Given the description of an element on the screen output the (x, y) to click on. 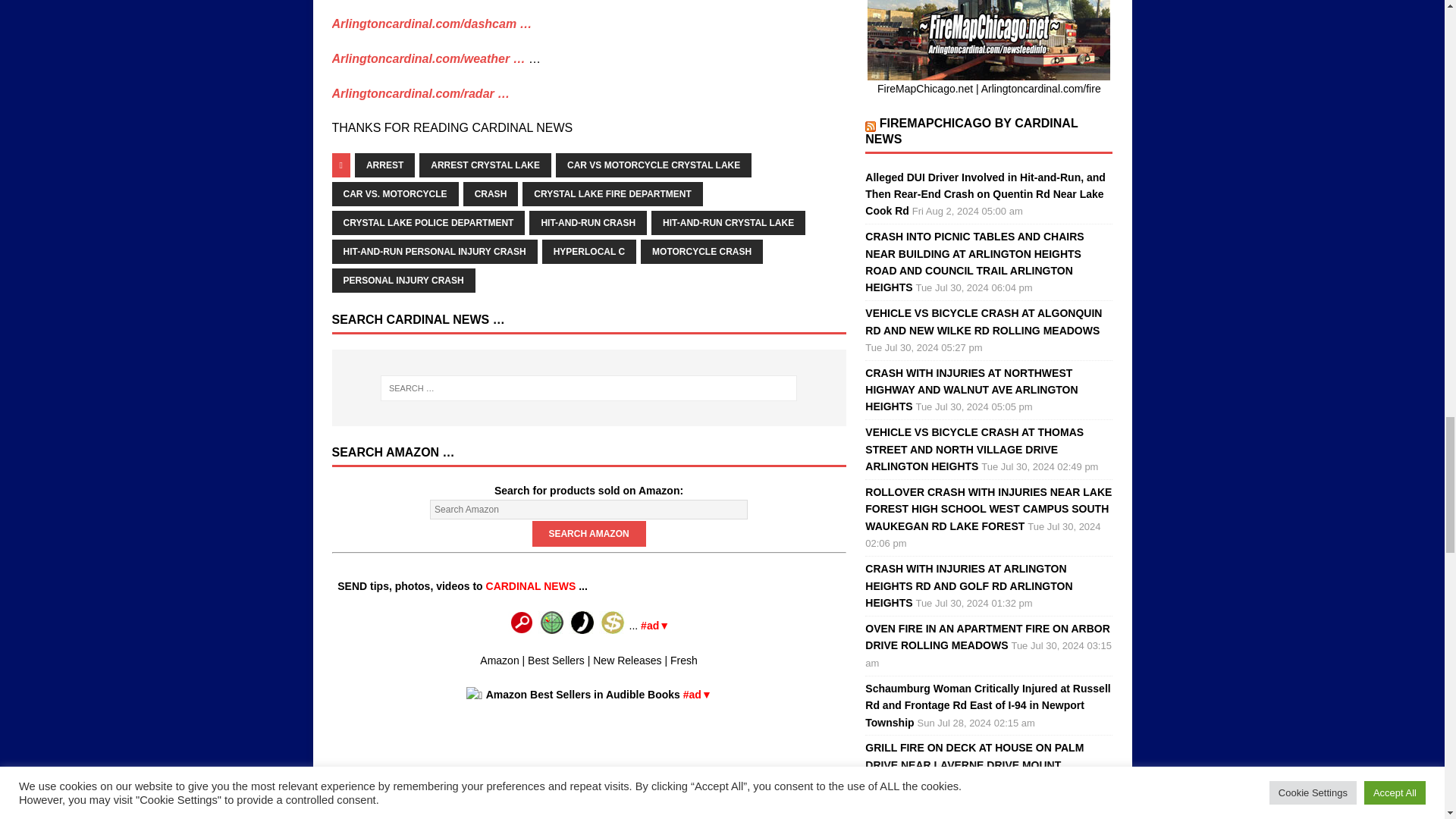
Search Amazon (589, 533)
